Given the description of an element on the screen output the (x, y) to click on. 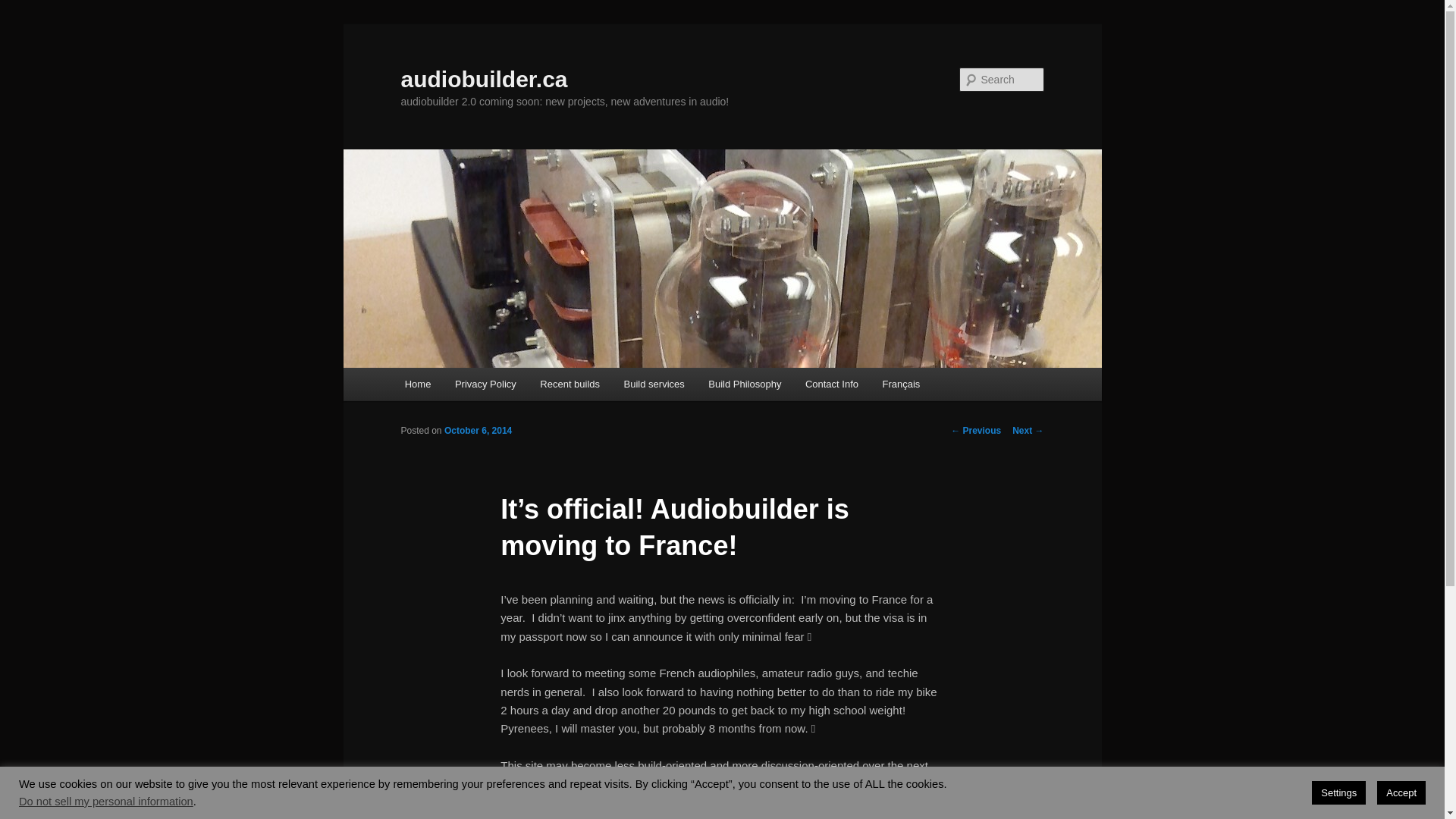
Recent builds Element type: text (569, 383)
Home Element type: text (417, 383)
Privacy Policy Element type: text (484, 383)
Settings Element type: text (1338, 792)
audiobuilder.ca Element type: text (483, 78)
Accept Element type: text (1401, 792)
Build services Element type: text (653, 383)
October 6, 2014 Element type: text (477, 430)
Search Element type: text (24, 8)
Skip to primary content Element type: text (22, 22)
Do not sell my personal information Element type: text (105, 801)
Build Philosophy Element type: text (744, 383)
Contact Info Element type: text (831, 383)
